Given the description of an element on the screen output the (x, y) to click on. 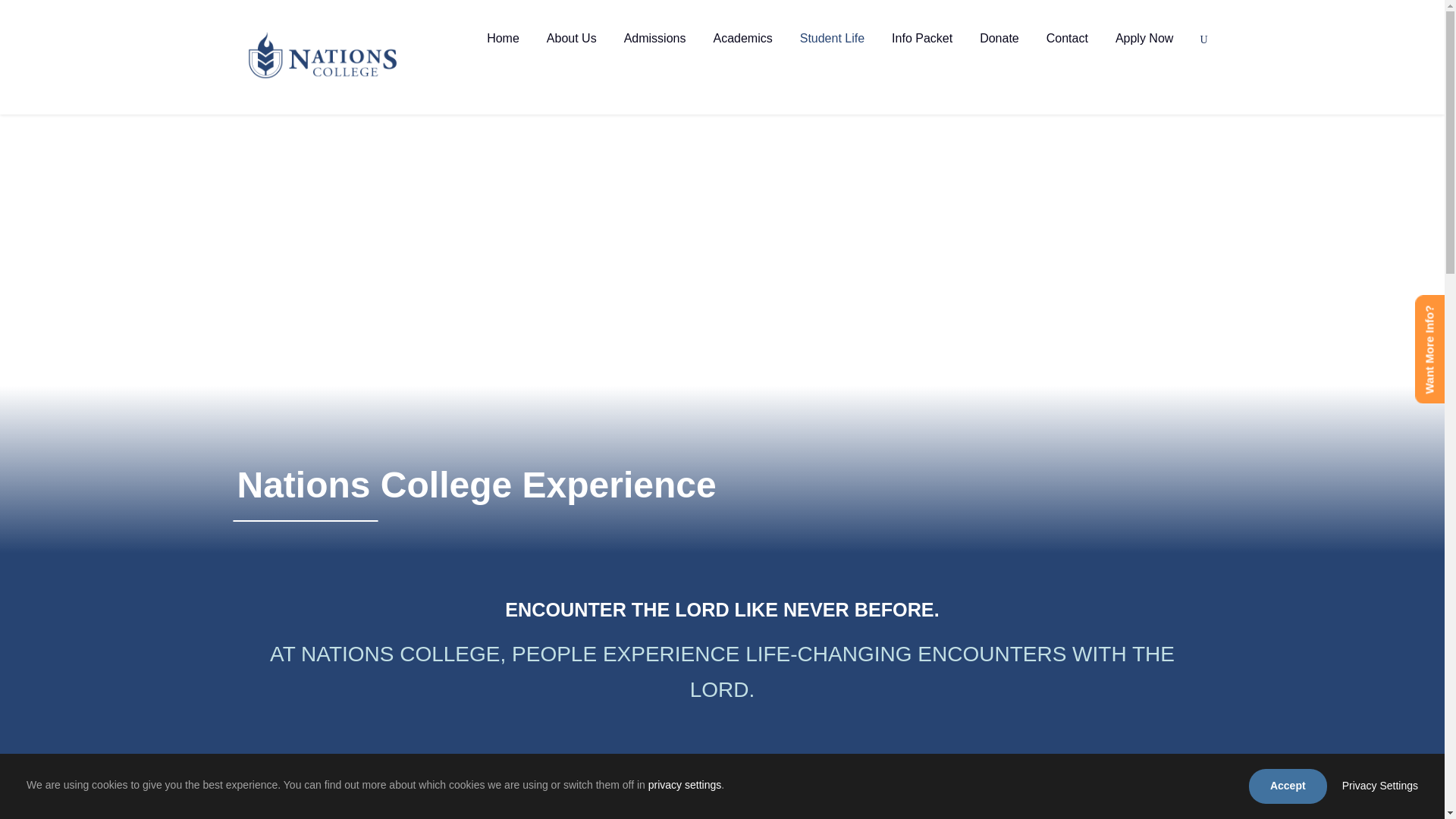
nations-college-logo-horiz-blue (321, 55)
Admissions (654, 50)
About Us (571, 50)
